Given the description of an element on the screen output the (x, y) to click on. 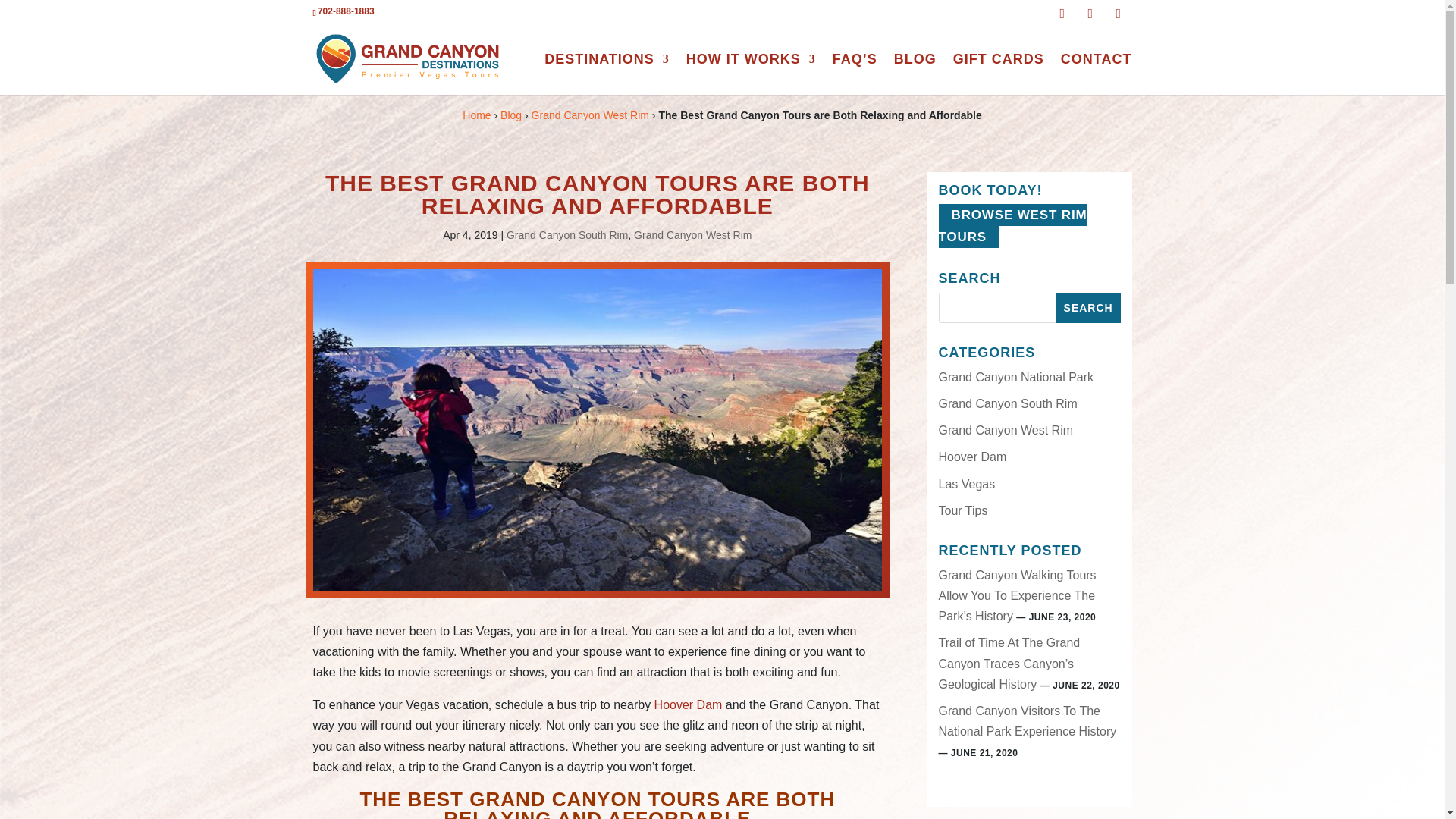
DESTINATIONS (606, 74)
Twitter (1095, 14)
Facebook (1066, 14)
Search (1089, 307)
Instagram (1123, 14)
HOW IT WORKS (750, 74)
Facebook (1066, 14)
702-888-1883 (345, 10)
BLOG (914, 74)
Instagram (1123, 14)
GIFT CARDS (998, 74)
CONTACT (1096, 74)
Twitter (1095, 14)
